Given the description of an element on the screen output the (x, y) to click on. 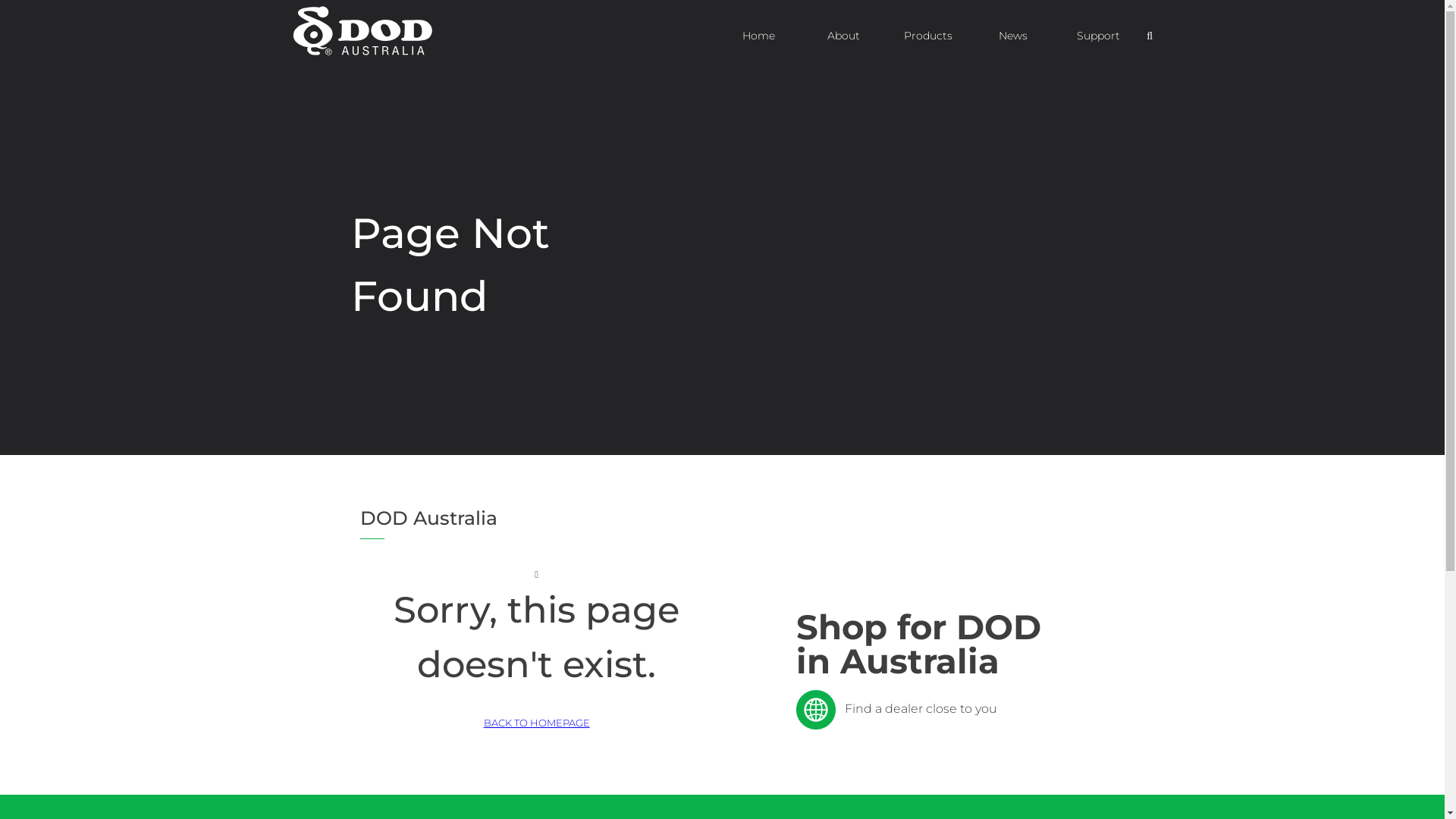
Find a dealer close to you Element type: text (896, 708)
About Element type: text (842, 34)
News Element type: text (1012, 34)
Support Element type: text (1097, 34)
BACK TO HOMEPAGE Element type: text (536, 722)
Home Element type: text (757, 34)
Products Element type: text (927, 34)
